Given the description of an element on the screen output the (x, y) to click on. 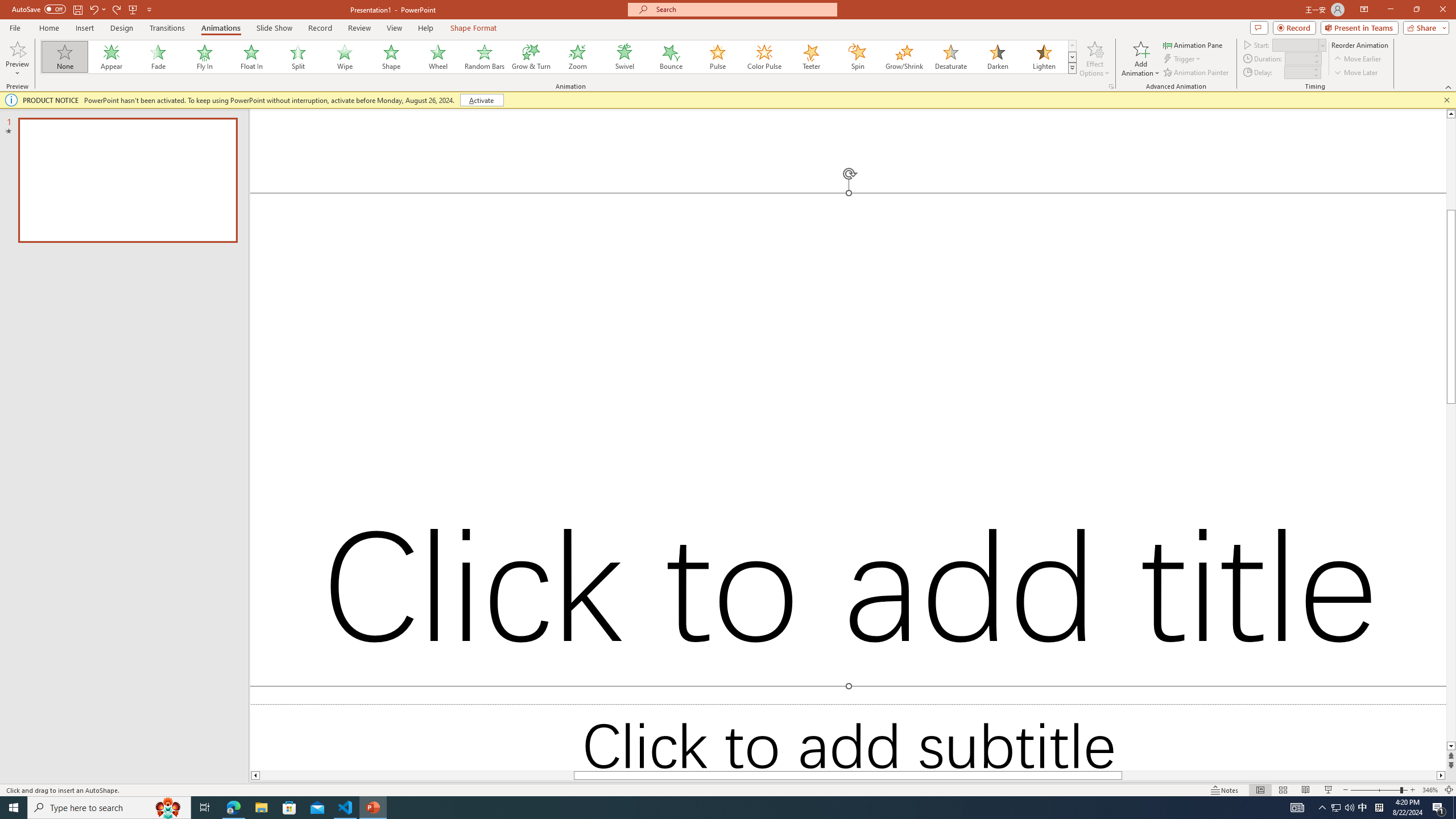
Fade (158, 56)
Lighten (1043, 56)
AutomationID: AnimationGallery (558, 56)
Animation Duration (1298, 58)
Float In (251, 56)
